Given the description of an element on the screen output the (x, y) to click on. 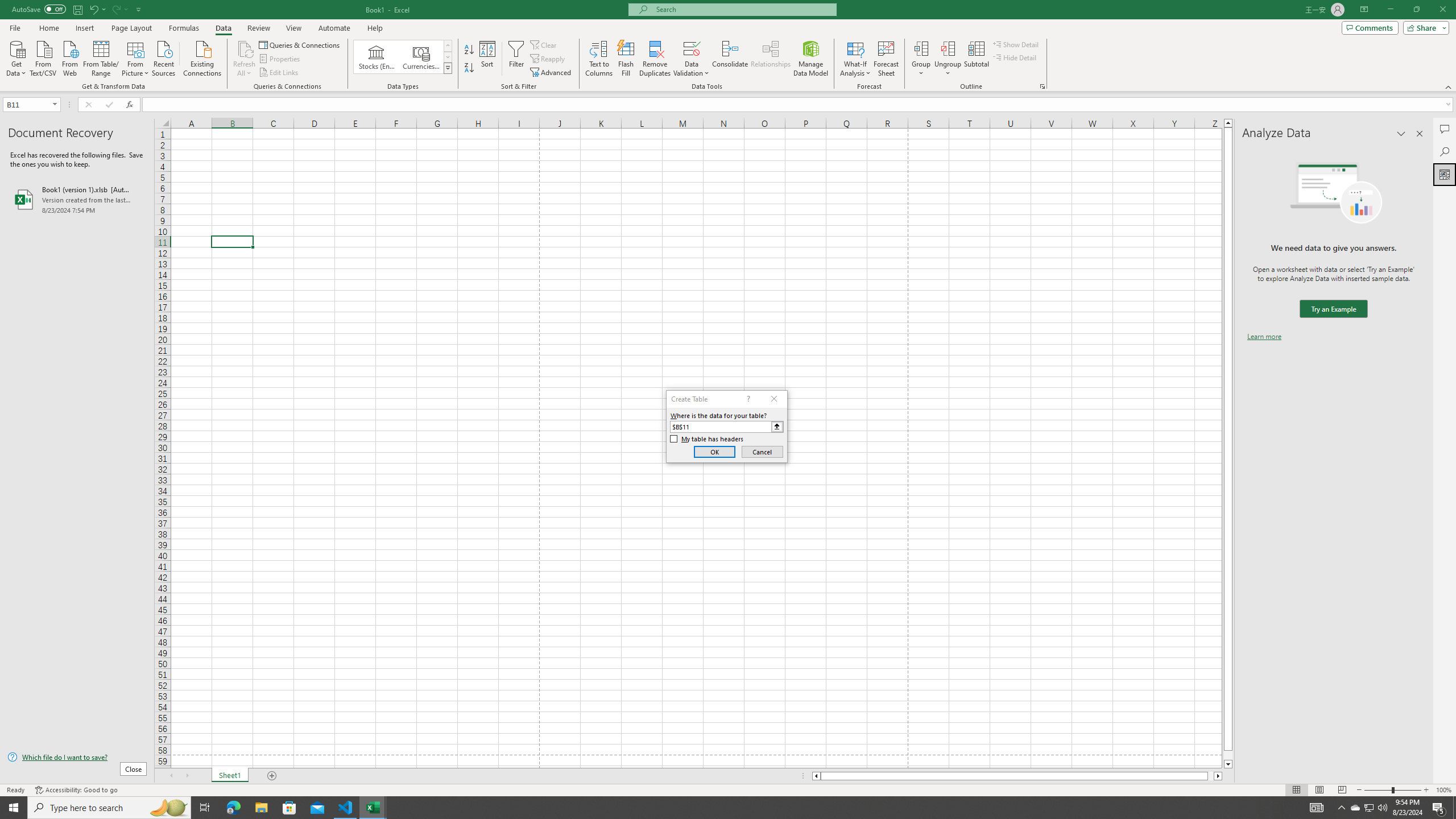
Stocks (English) (375, 56)
Scroll Right (187, 775)
Currencies (English) (420, 56)
Insert (83, 28)
Hide Detail (1014, 56)
Class: NetUIImage (447, 68)
Page right (1211, 775)
Accessibility Checker Accessibility: Good to go (76, 790)
Sort Z to A (469, 67)
From Picture (135, 57)
More Options (947, 68)
Restore Down (1416, 9)
Ungroup... (947, 58)
